Given the description of an element on the screen output the (x, y) to click on. 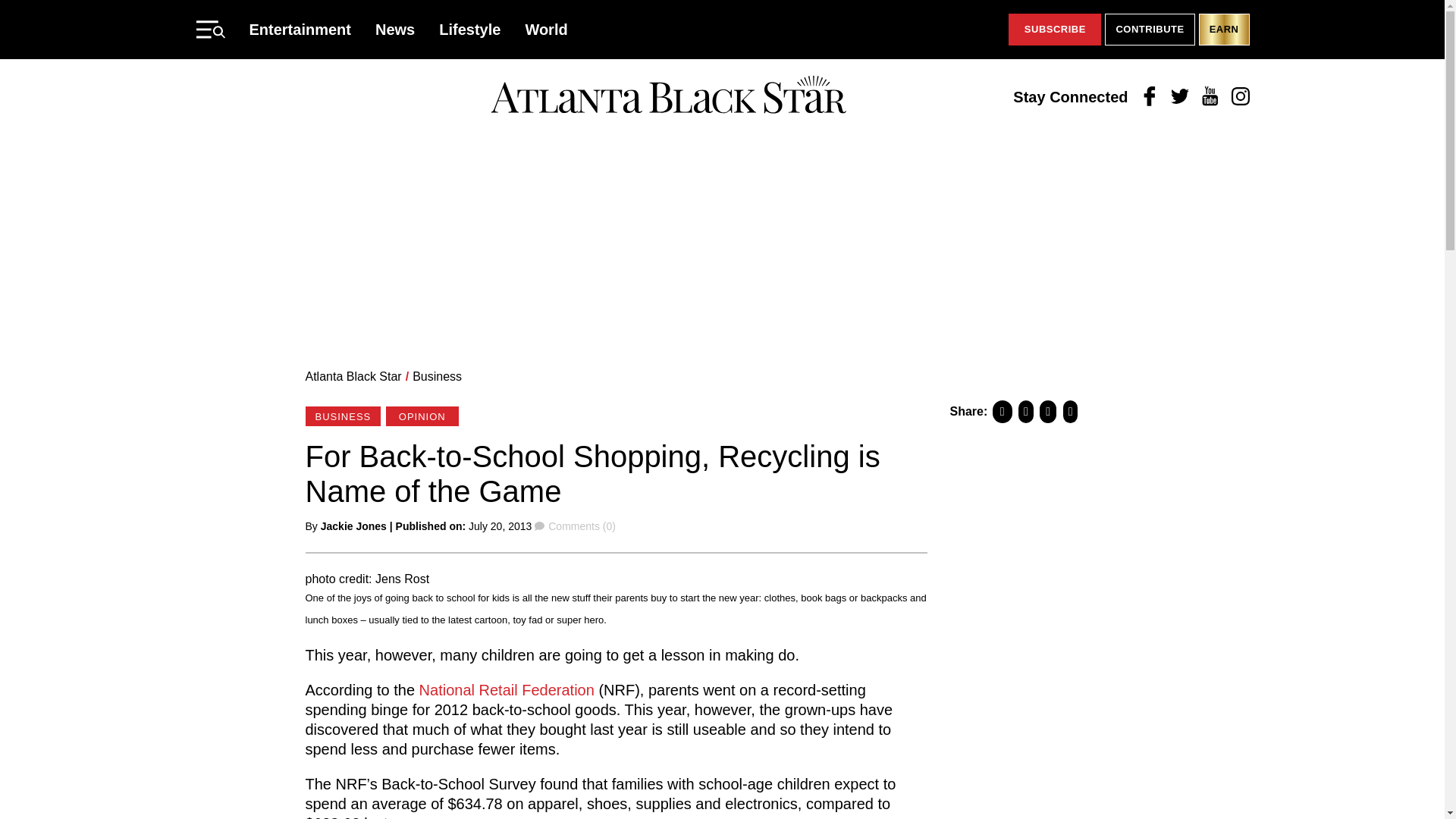
World (545, 29)
SUBSCRIBE (1054, 29)
CONTRIBUTE (1149, 29)
Lifestyle (469, 29)
Atlanta Black Star (352, 376)
Business (436, 376)
News (394, 29)
Go to Atlanta Black Star. (352, 376)
Atlanta Black Star (667, 96)
Entertainment (299, 29)
